Given the description of an element on the screen output the (x, y) to click on. 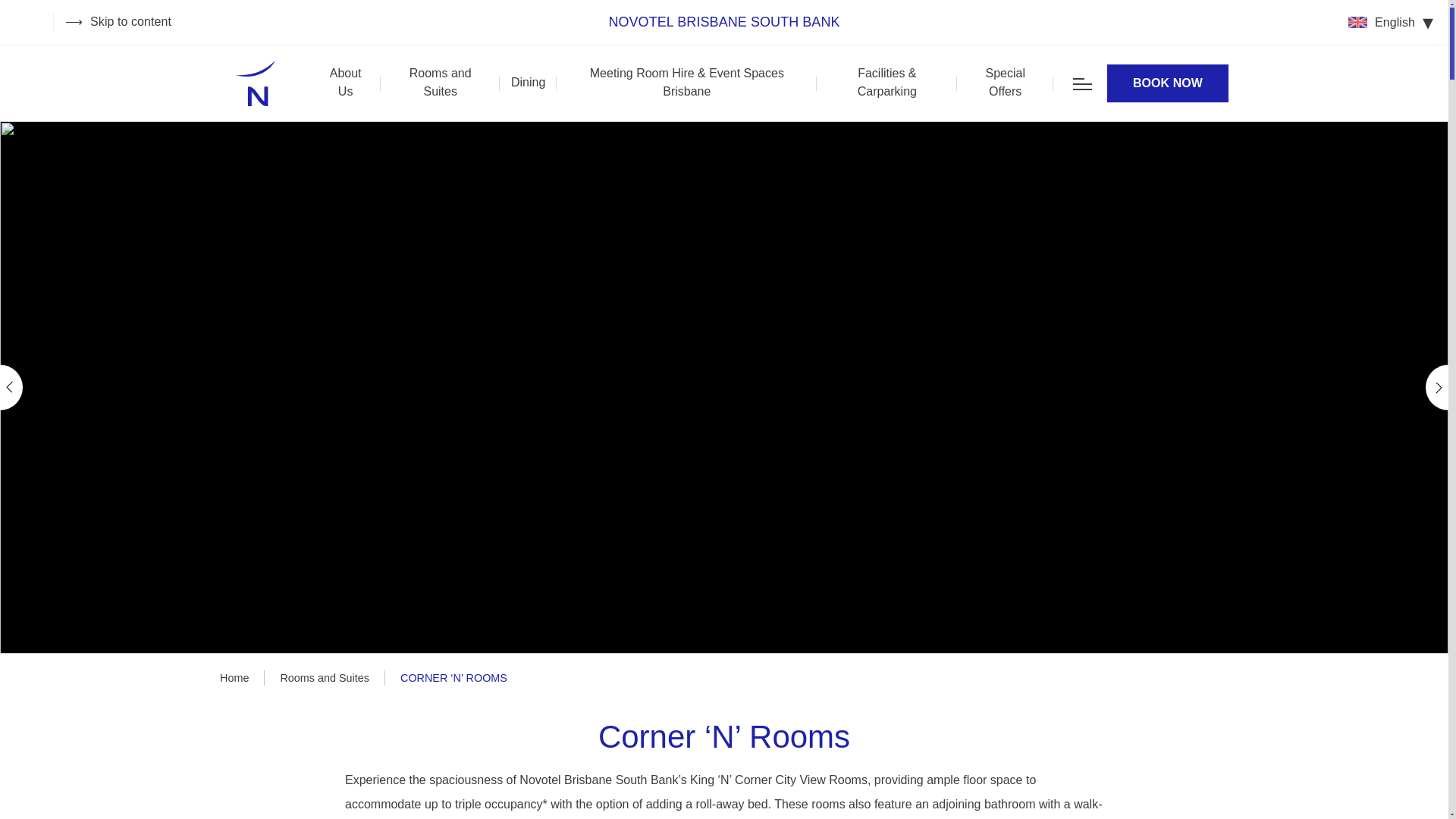
NOVOTEL BRISBANE SOUTH BANK (723, 22)
About Us (345, 83)
Book a room (1167, 83)
Open main navigation menu (1082, 82)
Skip to content (118, 22)
Special Offers (1005, 83)
English (1390, 22)
Rooms and Suites (439, 83)
Accessibility Options (33, 22)
Back to home page (254, 83)
